Given the description of an element on the screen output the (x, y) to click on. 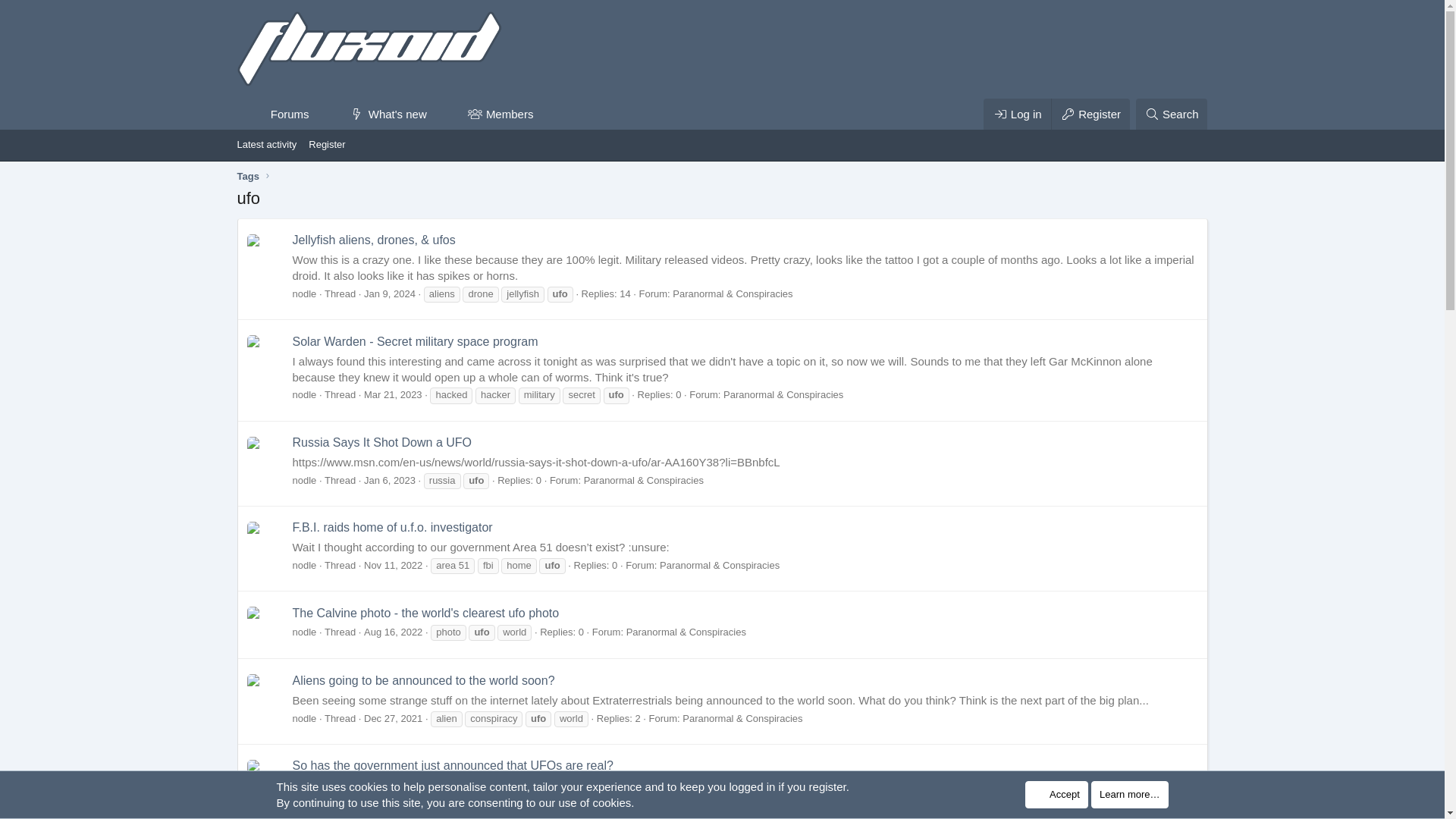
nodle (304, 293)
Dec 27, 2021 at 1:48 AM (393, 717)
Nov 11, 2022 at 1:54 PM (393, 564)
What's new (381, 113)
Search (1171, 113)
nodle (304, 394)
The Calvine photo - the world's clearest ufo photo (425, 612)
Search (1171, 113)
Forums (273, 113)
So has the government just announced that UFOs are real? (452, 765)
Aliens going to be announced to the world soon? (423, 680)
nodle (397, 130)
F.B.I. raids home of u.f.o. investigator (304, 480)
Solar Warden - Secret military space program (392, 526)
